Given the description of an element on the screen output the (x, y) to click on. 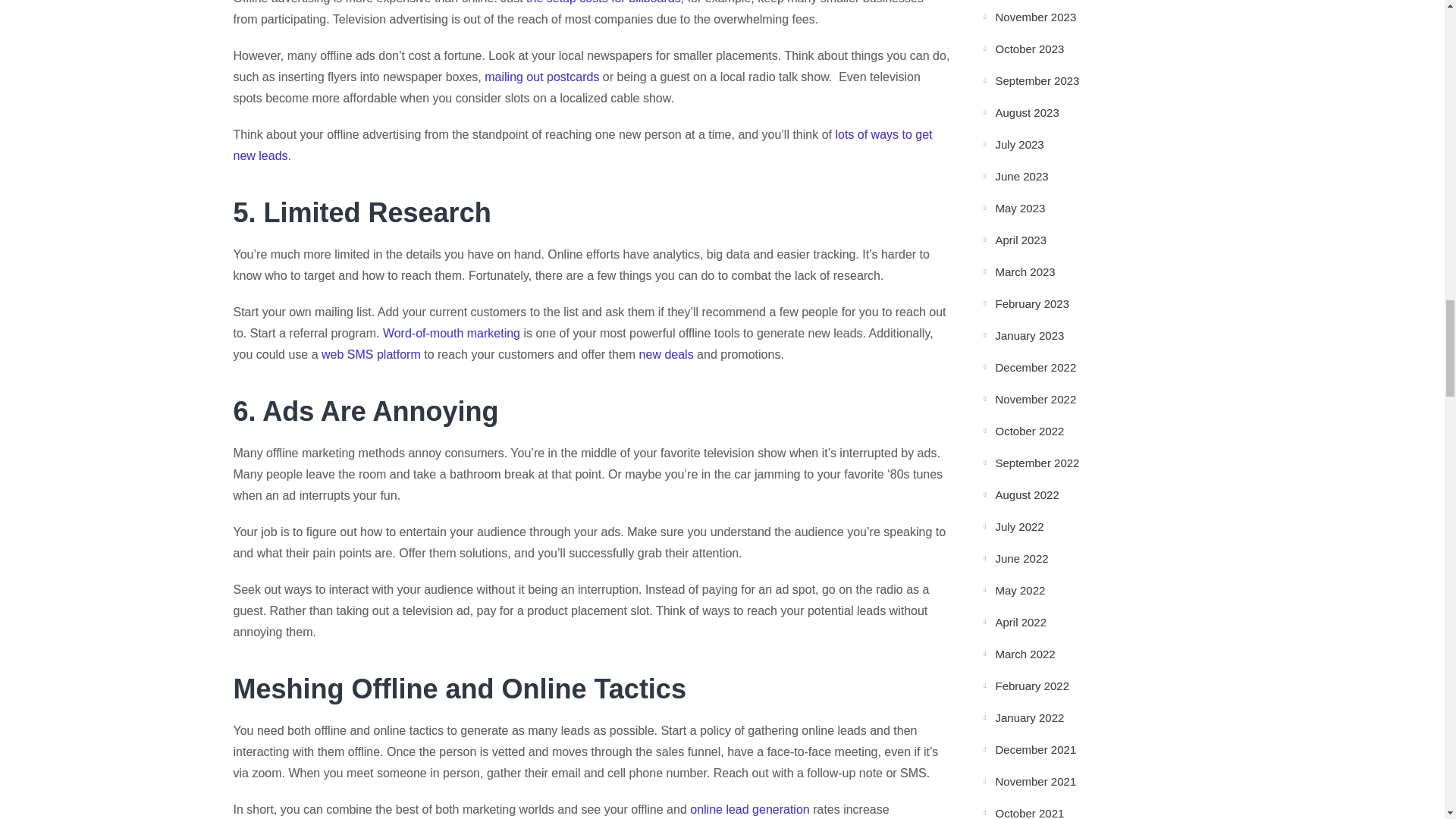
mailing out postcards (541, 76)
new deals (666, 354)
Word-of-mouth marketing (450, 332)
the setup costs for billboards (603, 2)
web SMS platform (370, 354)
lots of ways to get new leads (582, 144)
